Given the description of an element on the screen output the (x, y) to click on. 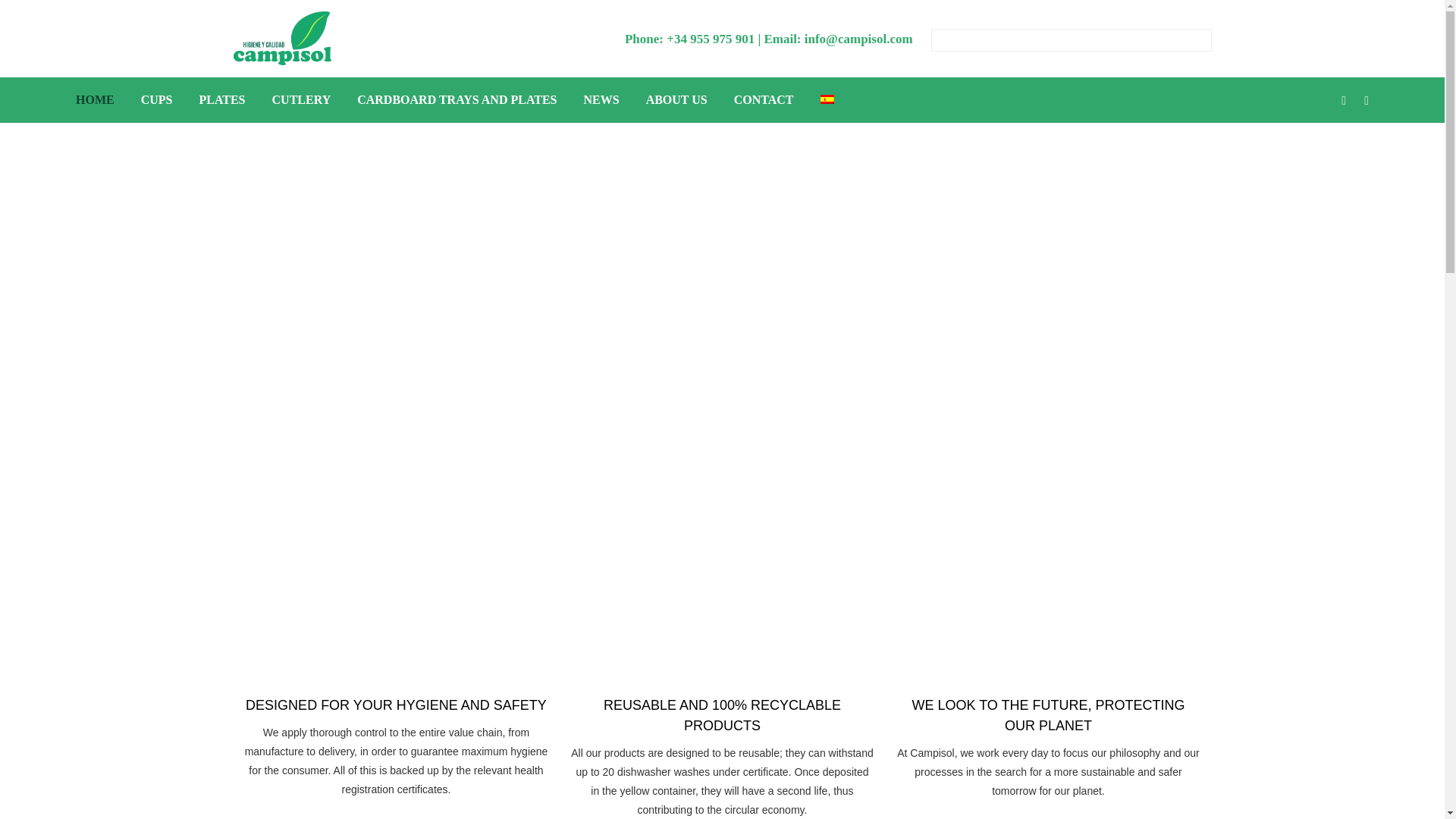
PLATES (219, 99)
HOME (100, 99)
CUTLERY (299, 99)
CUPS (154, 99)
